Given the description of an element on the screen output the (x, y) to click on. 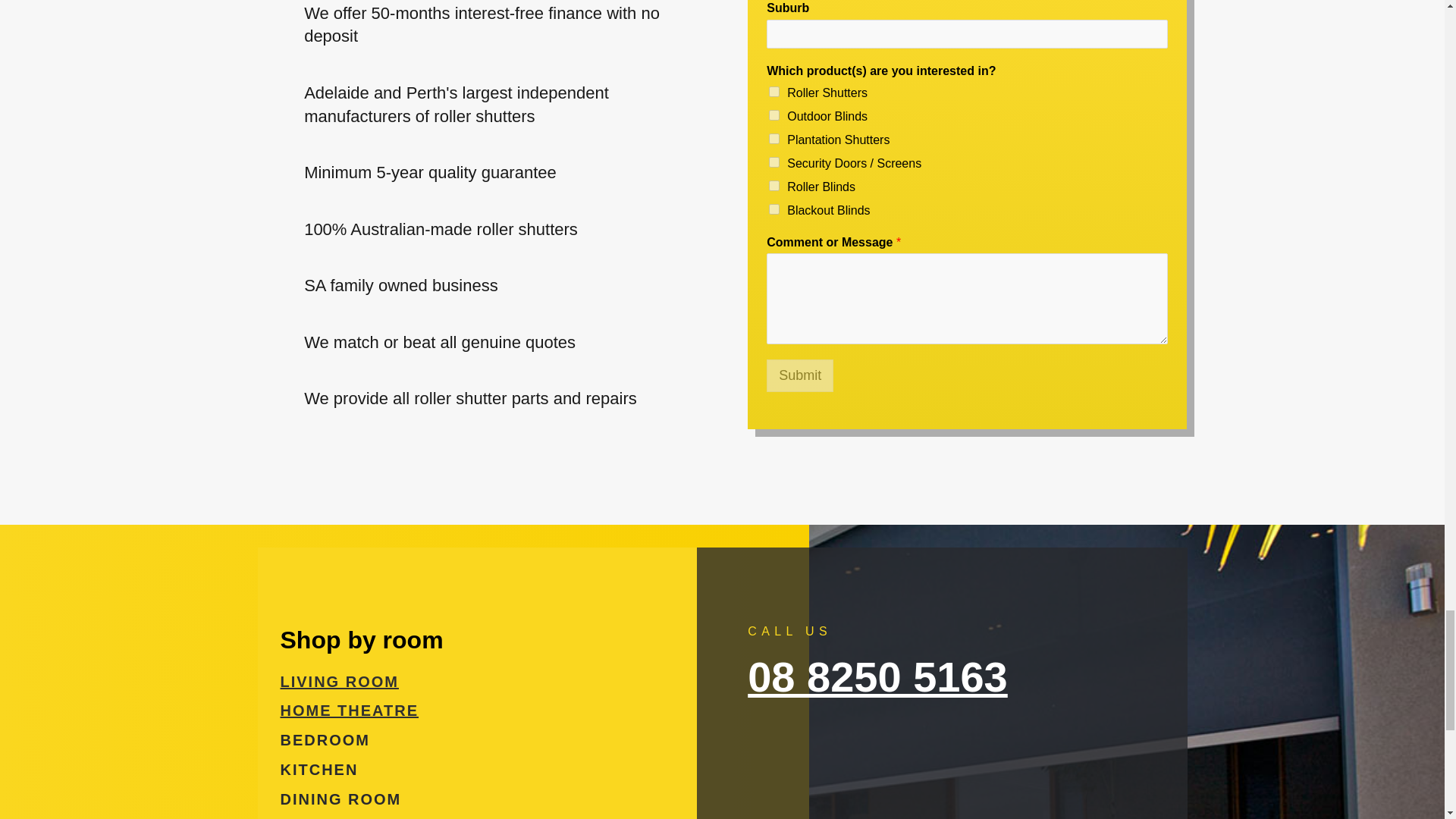
Plantation Shutters (773, 138)
Outdoor Blinds (773, 114)
Roller Shutters (773, 91)
